Given the description of an element on the screen output the (x, y) to click on. 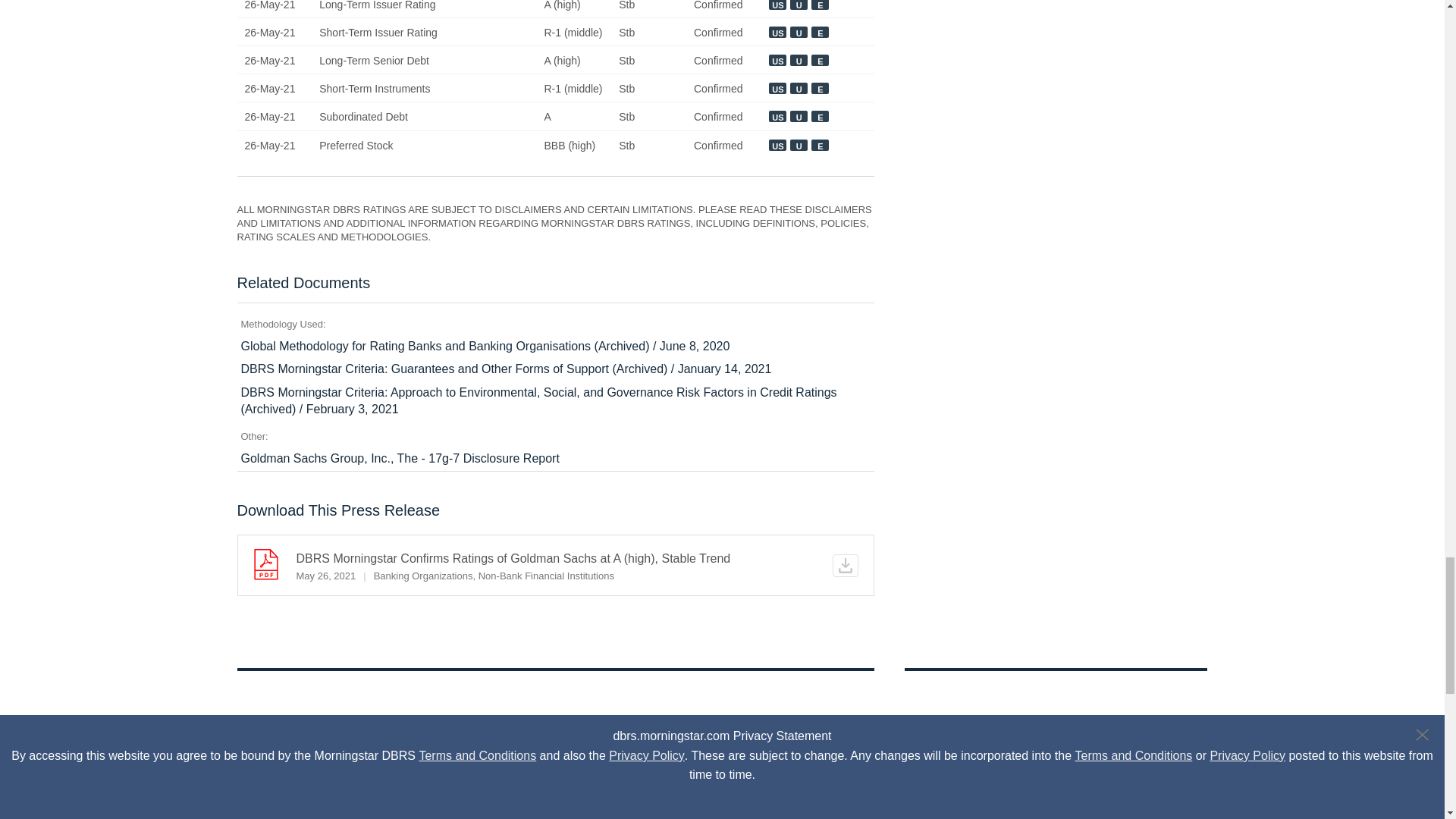
Related Events (1055, 743)
More from Morningstar DBRS (554, 743)
